Given the description of an element on the screen output the (x, y) to click on. 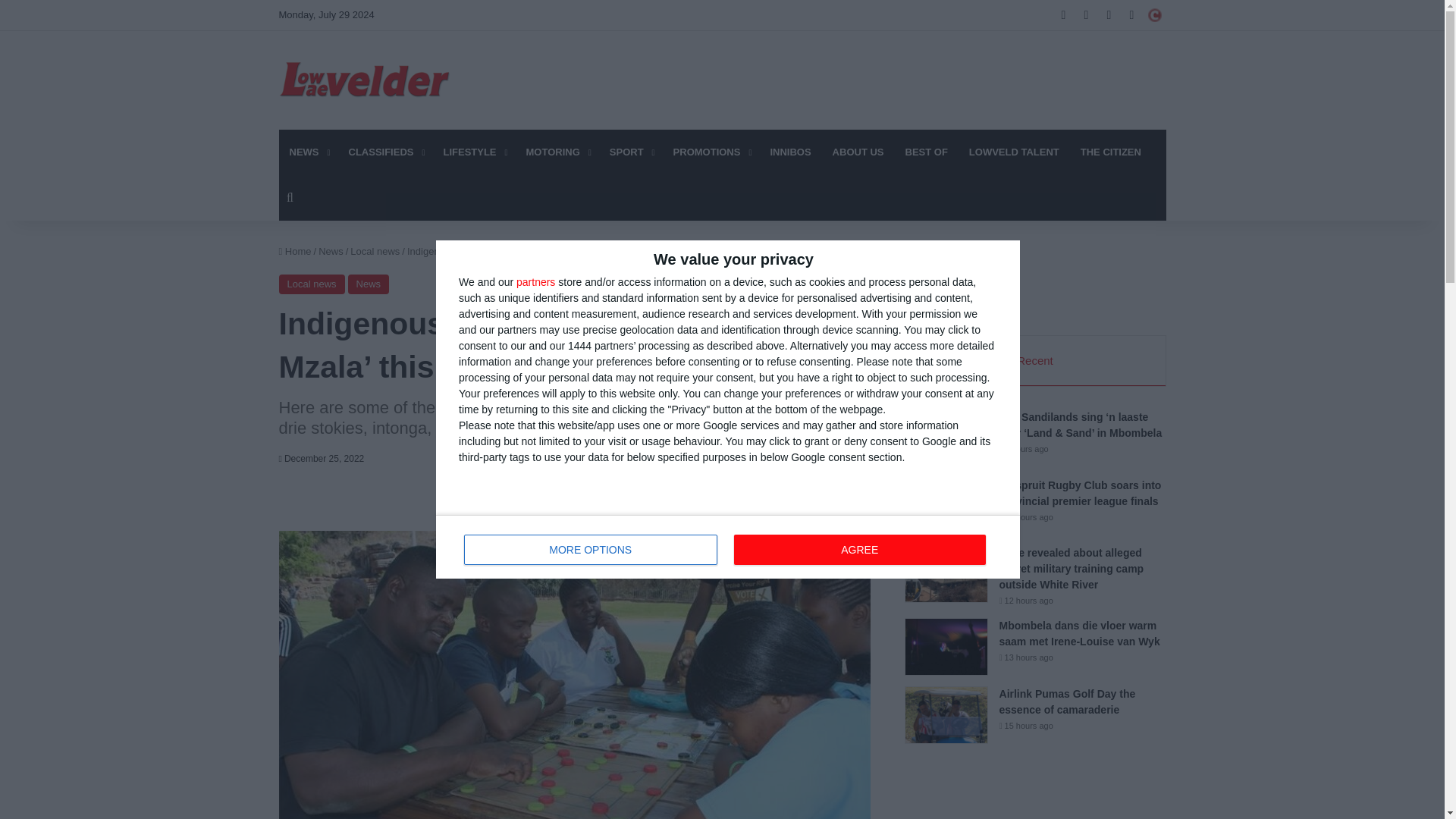
MOTORING (556, 152)
Lowvelder (727, 546)
CLASSIFIEDS (365, 79)
MORE OPTIONS (384, 152)
Facebook (590, 549)
Pinterest (466, 500)
Print (610, 500)
X (681, 500)
LinkedIn (501, 500)
Share via Email (537, 500)
AGREE (646, 500)
LIFESTYLE (859, 549)
NEWS (473, 152)
partners (308, 152)
